Given the description of an element on the screen output the (x, y) to click on. 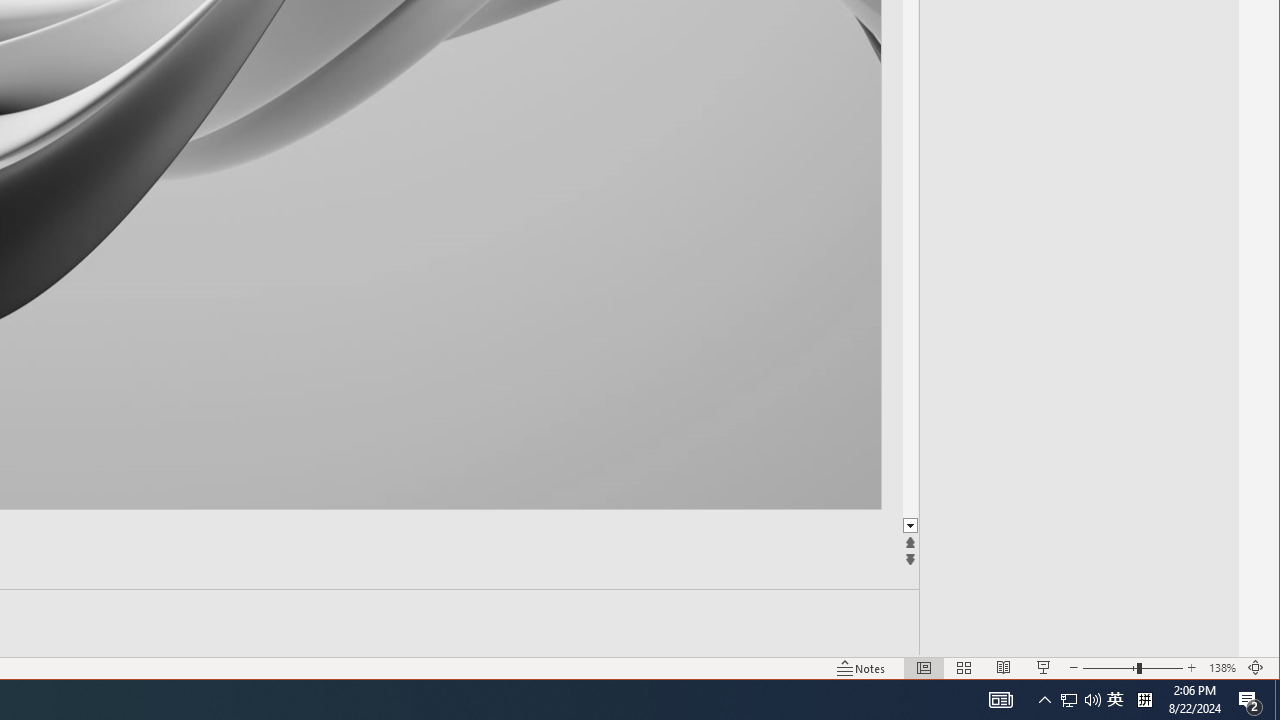
Show desktop (1277, 699)
Zoom 138% (1222, 668)
User Promoted Notification Area (1080, 699)
Q2790: 100% (1092, 699)
Zoom to Fit  (1256, 668)
Action Center, 2 new notifications (1250, 699)
Zoom In (1191, 668)
Notification Chevron (1044, 699)
Slide Sorter (964, 668)
AutomationID: 4105 (1000, 699)
Notes  (1069, 699)
Slide Show (861, 668)
Tray Input Indicator - Chinese (Simplified, China) (1115, 699)
